Given the description of an element on the screen output the (x, y) to click on. 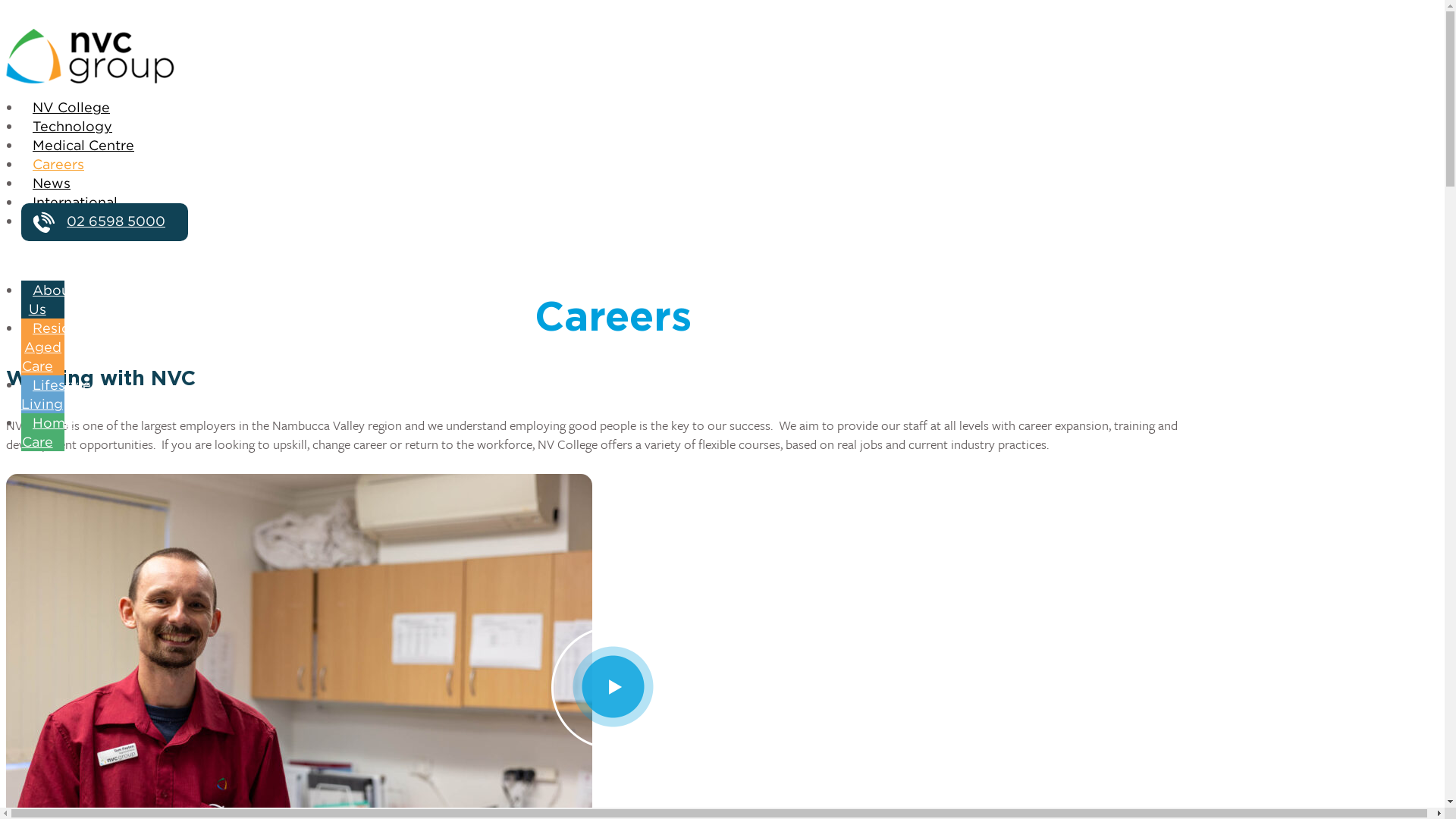
International Element type: text (74, 203)
NV College Element type: text (71, 108)
Technology Element type: text (72, 127)
Home Care Element type: text (47, 432)
NVC Group Element type: hover (612, 56)
Residential Aged Care Element type: text (64, 347)
Lifestyle Living Element type: text (56, 395)
Careers Element type: text (58, 165)
About Us Element type: text (48, 300)
News Element type: text (51, 184)
Medical Centre Element type: text (83, 146)
02 6598 5000 Element type: text (104, 222)
